Given the description of an element on the screen output the (x, y) to click on. 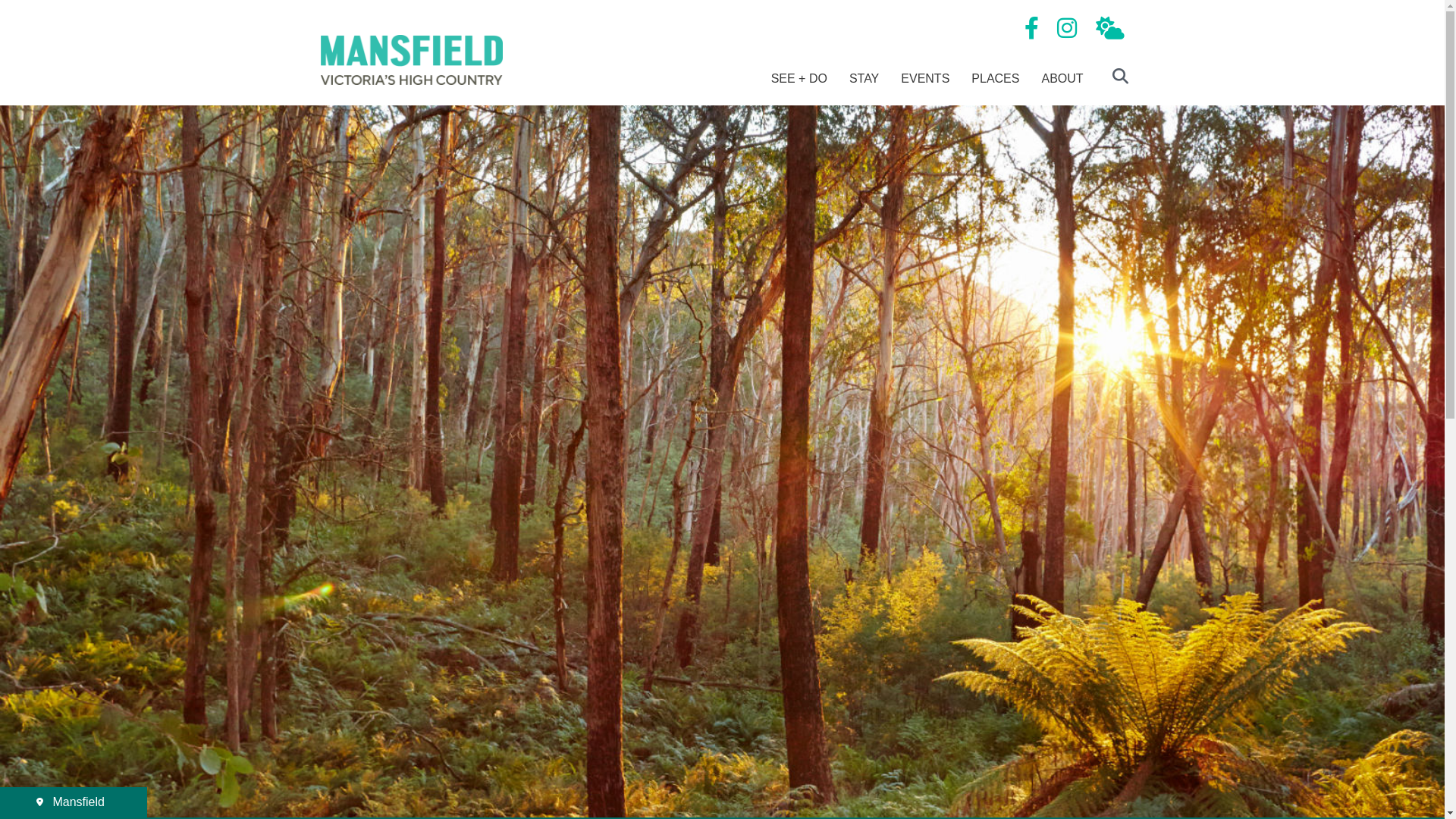
STAY Element type: text (863, 78)
PLACES Element type: text (994, 78)
Mansfield Element type: text (73, 800)
ABOUT Element type: text (1061, 78)
Search Element type: text (1115, 84)
SEE + DO Element type: text (798, 78)
EVENTS Element type: text (925, 78)
MANSFIELD-TOURISM-LOGO Element type: hover (411, 59)
Add to Wishlist Element type: hover (1411, 127)
Mansfield Element type: text (73, 802)
